Given the description of an element on the screen output the (x, y) to click on. 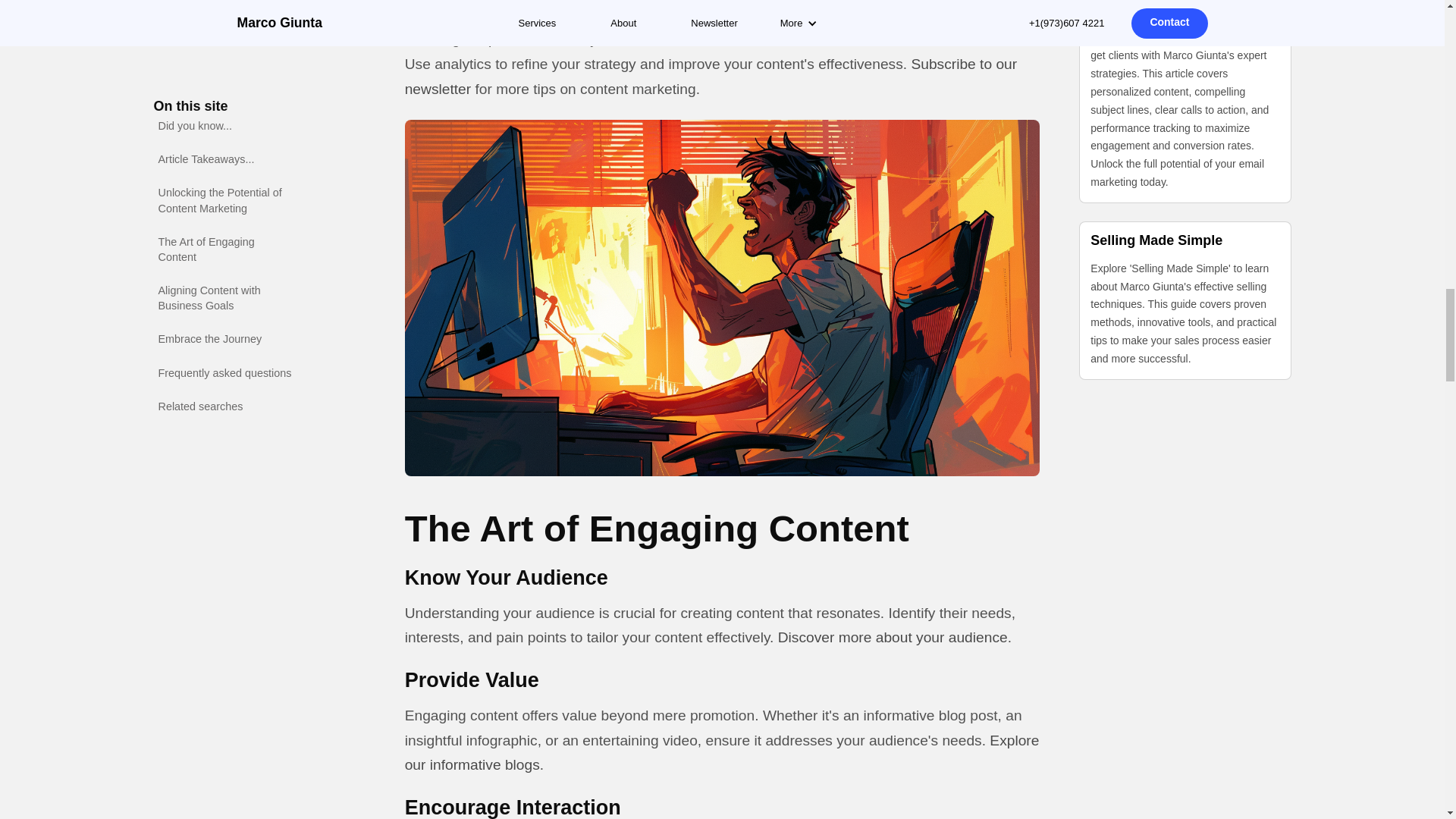
Subscribe to our newsletter (710, 76)
Explore our informative blogs (721, 752)
Discover more about your audience (892, 637)
